Given the description of an element on the screen output the (x, y) to click on. 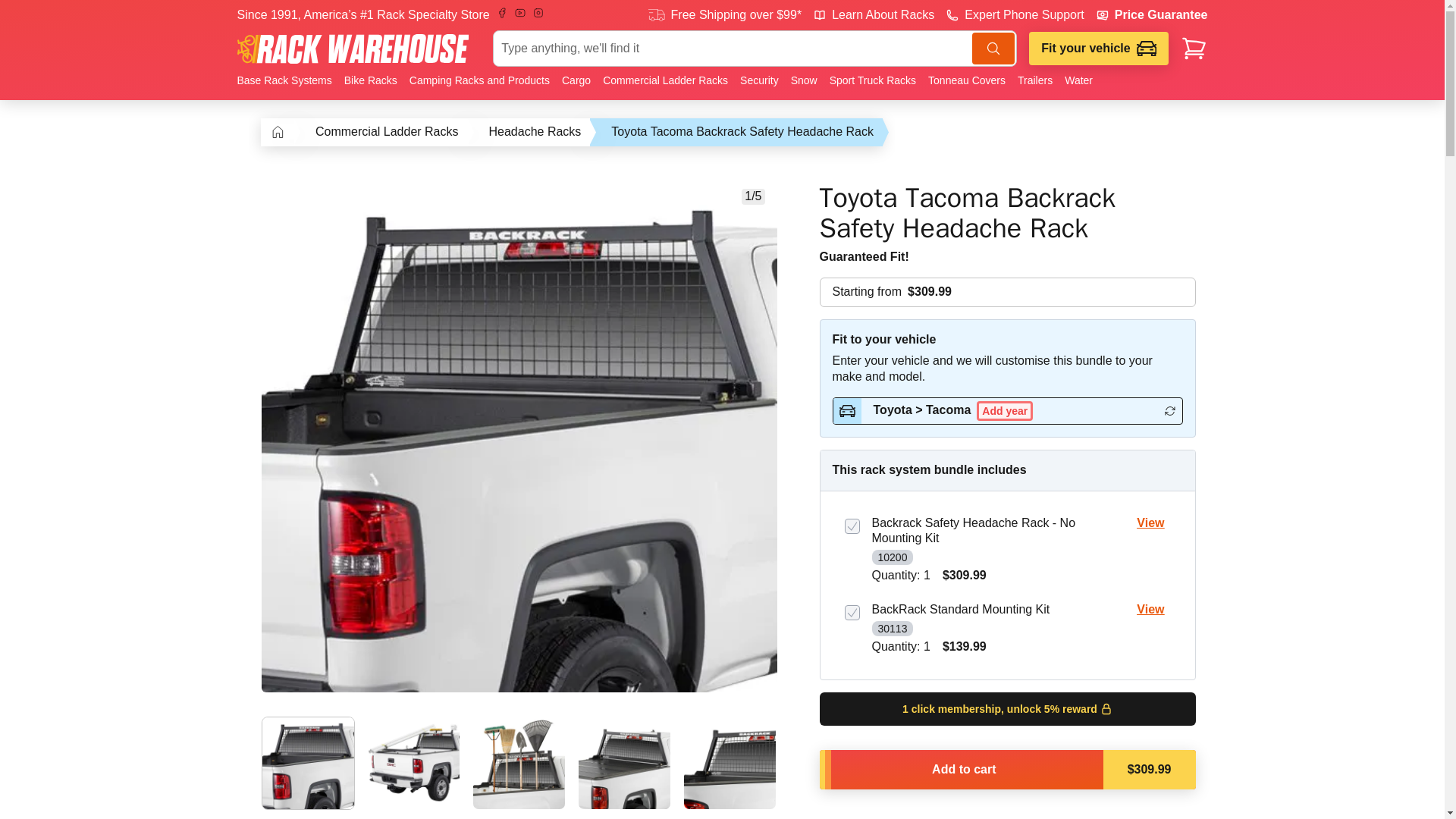
Expert Phone Support (1014, 14)
Snow (804, 79)
Type anything, we'll find it (754, 48)
Base Rack Systems (286, 79)
Commercial Ladder Racks (386, 131)
Bike Racks (370, 79)
Tonneau Covers (966, 79)
Cargo (576, 79)
Camping Racks and Products (479, 79)
Fit your vehicle (1099, 48)
Headache Racks (535, 131)
Sport Truck Racks (872, 79)
Water (1075, 79)
Commercial Ladder Racks (664, 79)
Security (758, 79)
